Given the description of an element on the screen output the (x, y) to click on. 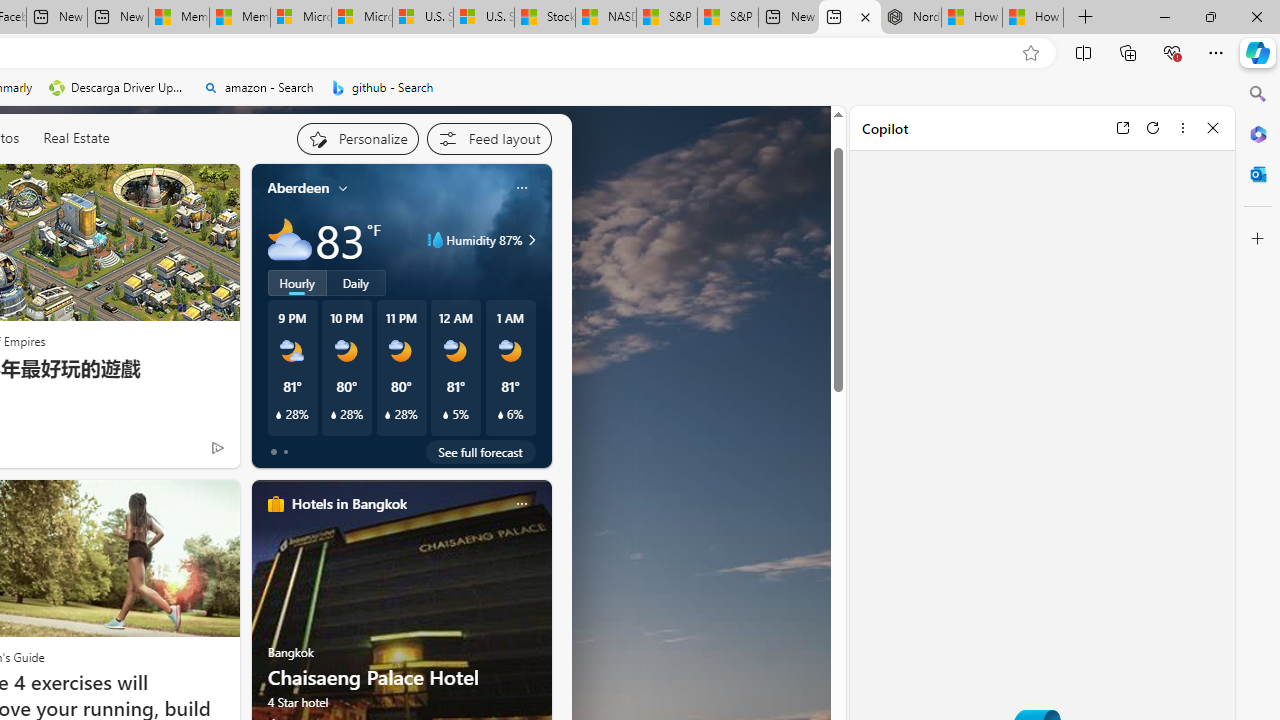
Hourly (296, 282)
Daily (356, 282)
S&P 500, Nasdaq end lower, weighed by Nvidia dip | Watch (727, 17)
Real Estate (76, 137)
Ad Choice (217, 447)
My location (343, 187)
